Given the description of an element on the screen output the (x, y) to click on. 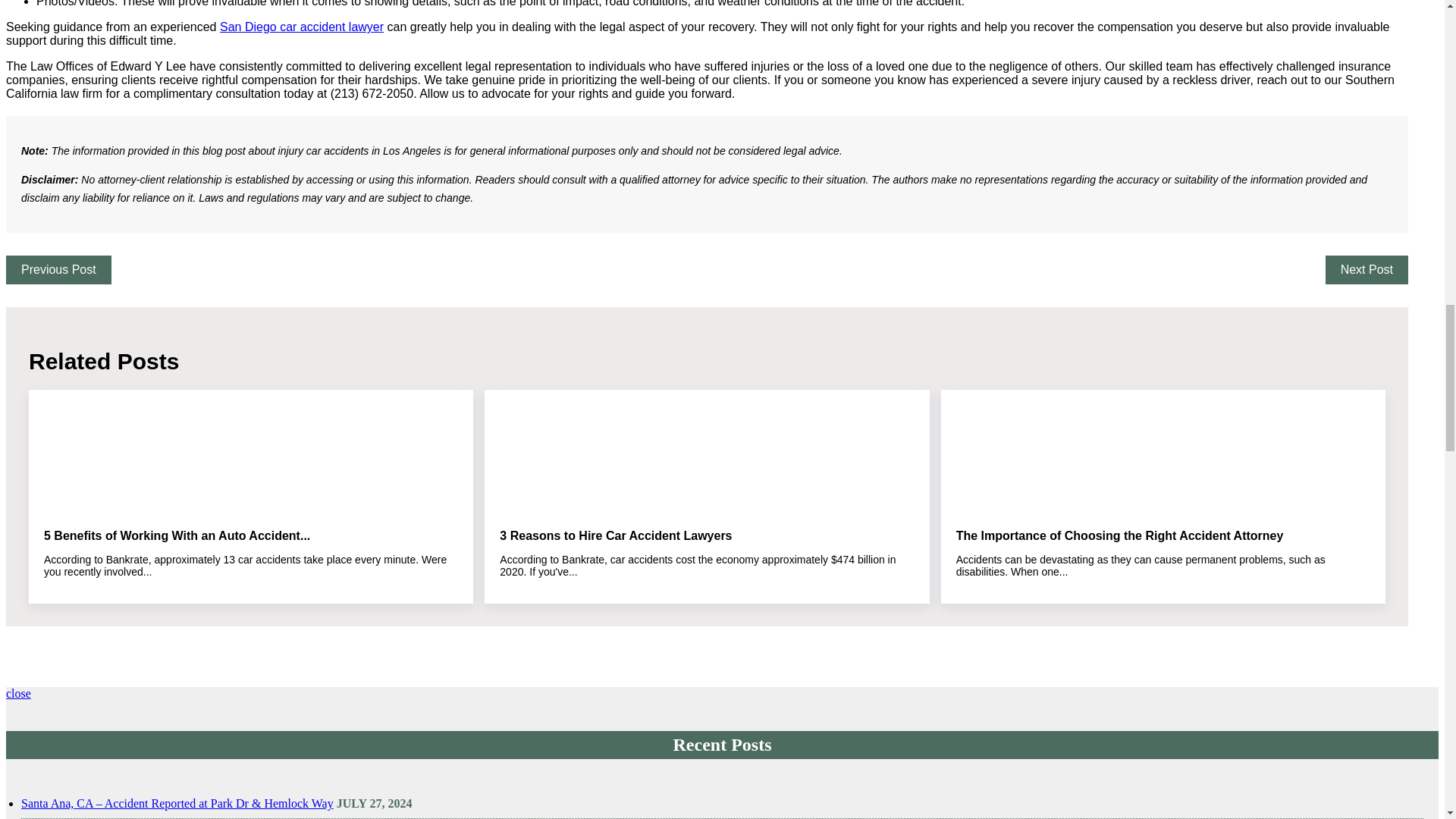
Previous Post (58, 269)
San Diego car accident lawyer (301, 26)
